Given the description of an element on the screen output the (x, y) to click on. 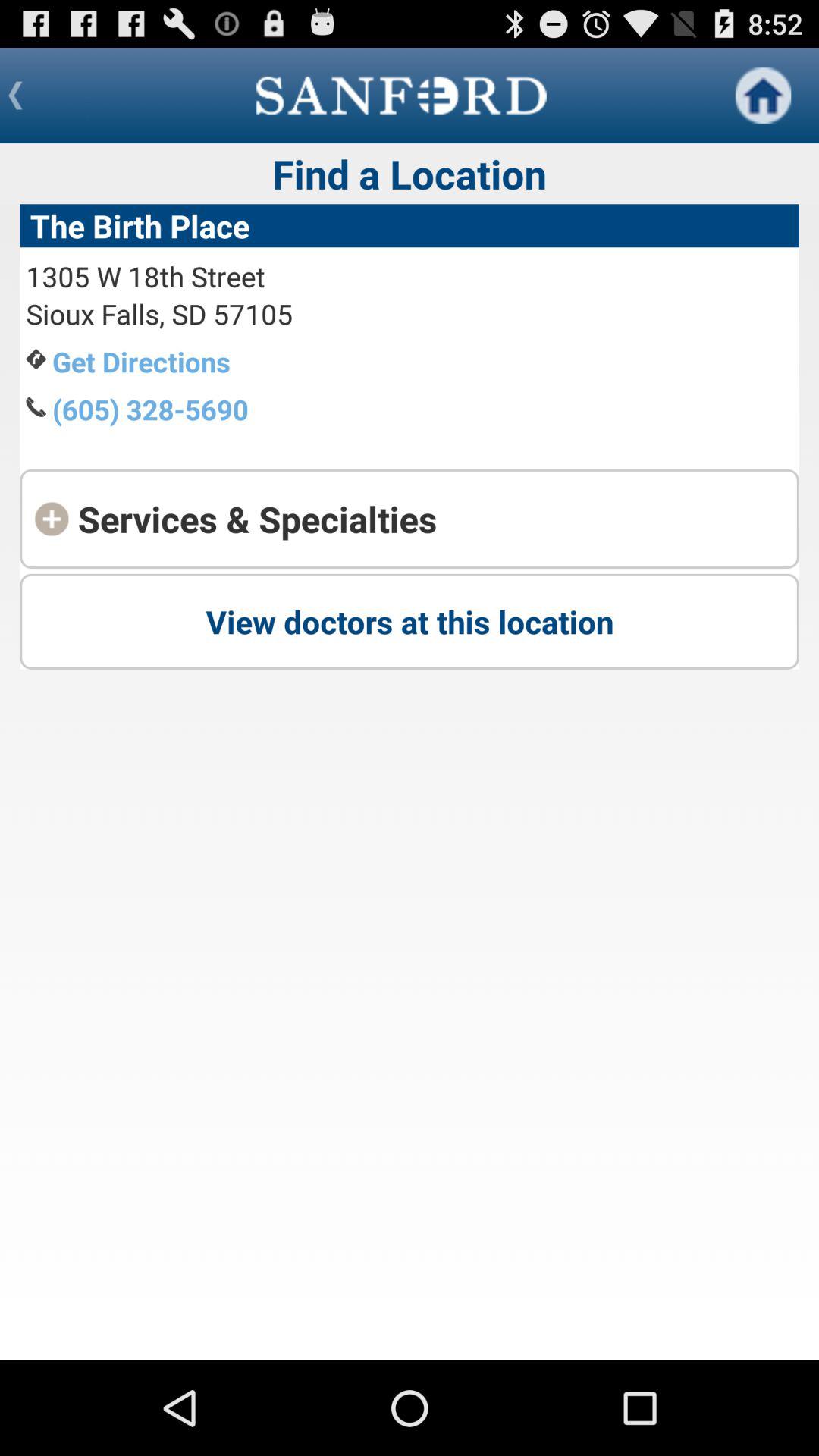
swipe until get directions app (141, 361)
